Given the description of an element on the screen output the (x, y) to click on. 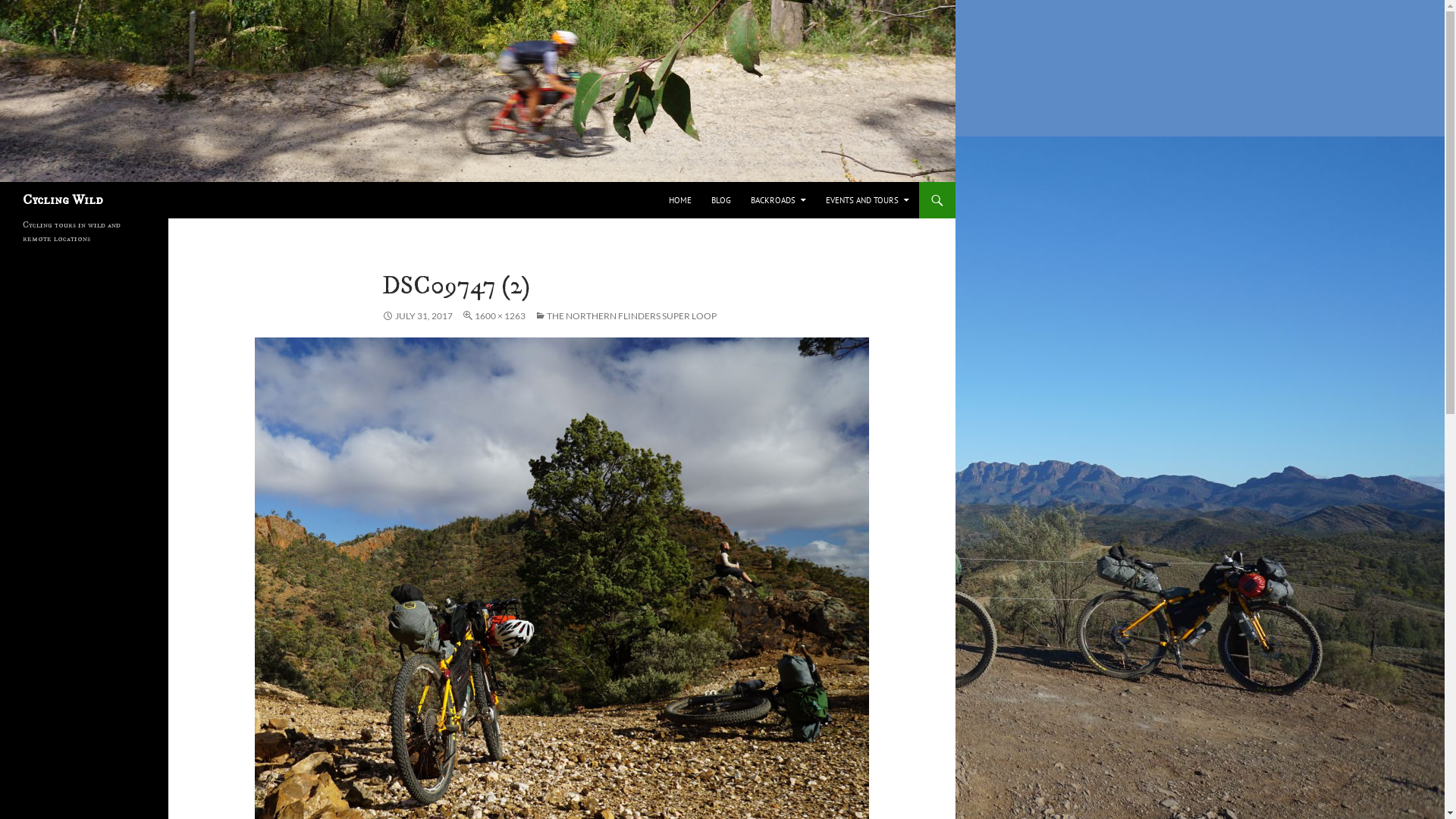
Cycling Wild Element type: text (62, 200)
SKIP TO CONTENT Element type: text (667, 181)
BACKROADS Element type: text (778, 200)
EVENTS AND TOURS Element type: text (867, 200)
BLOG Element type: text (721, 200)
Search Element type: text (3, 181)
THE NORTHERN FLINDERS SUPER LOOP Element type: text (625, 315)
HOME Element type: text (679, 200)
